Given the description of an element on the screen output the (x, y) to click on. 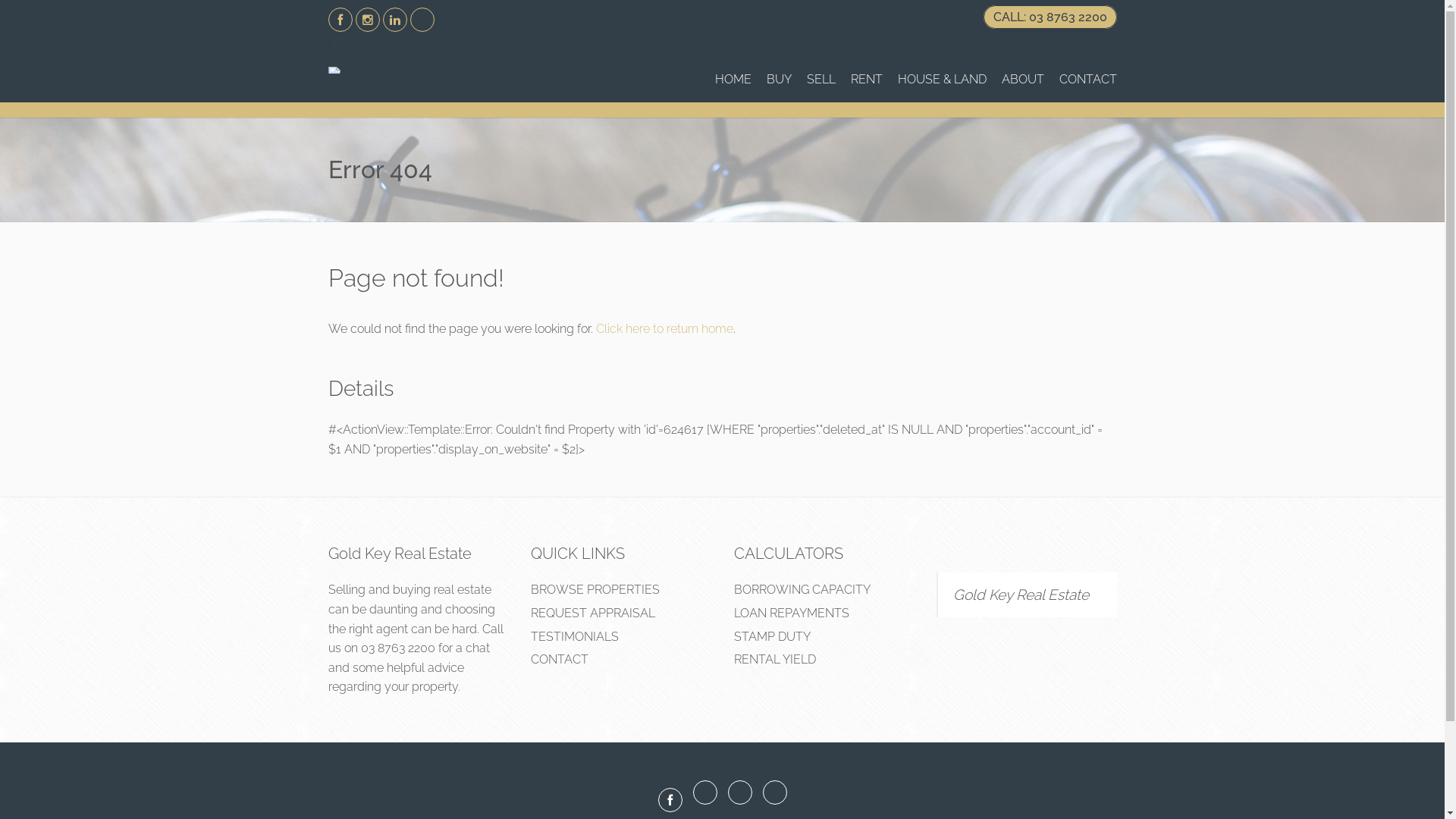
BORROWING CAPACITY Element type: text (802, 589)
Click here to return home Element type: text (664, 328)
RENTAL YIELD Element type: text (774, 659)
BUY Element type: text (777, 79)
RENT Element type: text (866, 79)
BROWSE PROPERTIES Element type: text (594, 589)
HOME Element type: text (732, 79)
SELL Element type: text (820, 79)
CONTACT Element type: text (559, 659)
TESTIMONIALS Element type: text (574, 636)
REQUEST APPRAISAL Element type: text (592, 612)
HOUSE & LAND Element type: text (941, 79)
STAMP DUTY Element type: text (772, 636)
03 8763 2200 Element type: text (397, 647)
ABOUT Element type: text (1022, 79)
LOAN REPAYMENTS Element type: text (791, 612)
CONTACT Element type: text (1087, 79)
CALL: 03 8763 2200 Element type: text (1049, 16)
Gold Key Real Estate Element type: text (1020, 594)
